Given the description of an element on the screen output the (x, y) to click on. 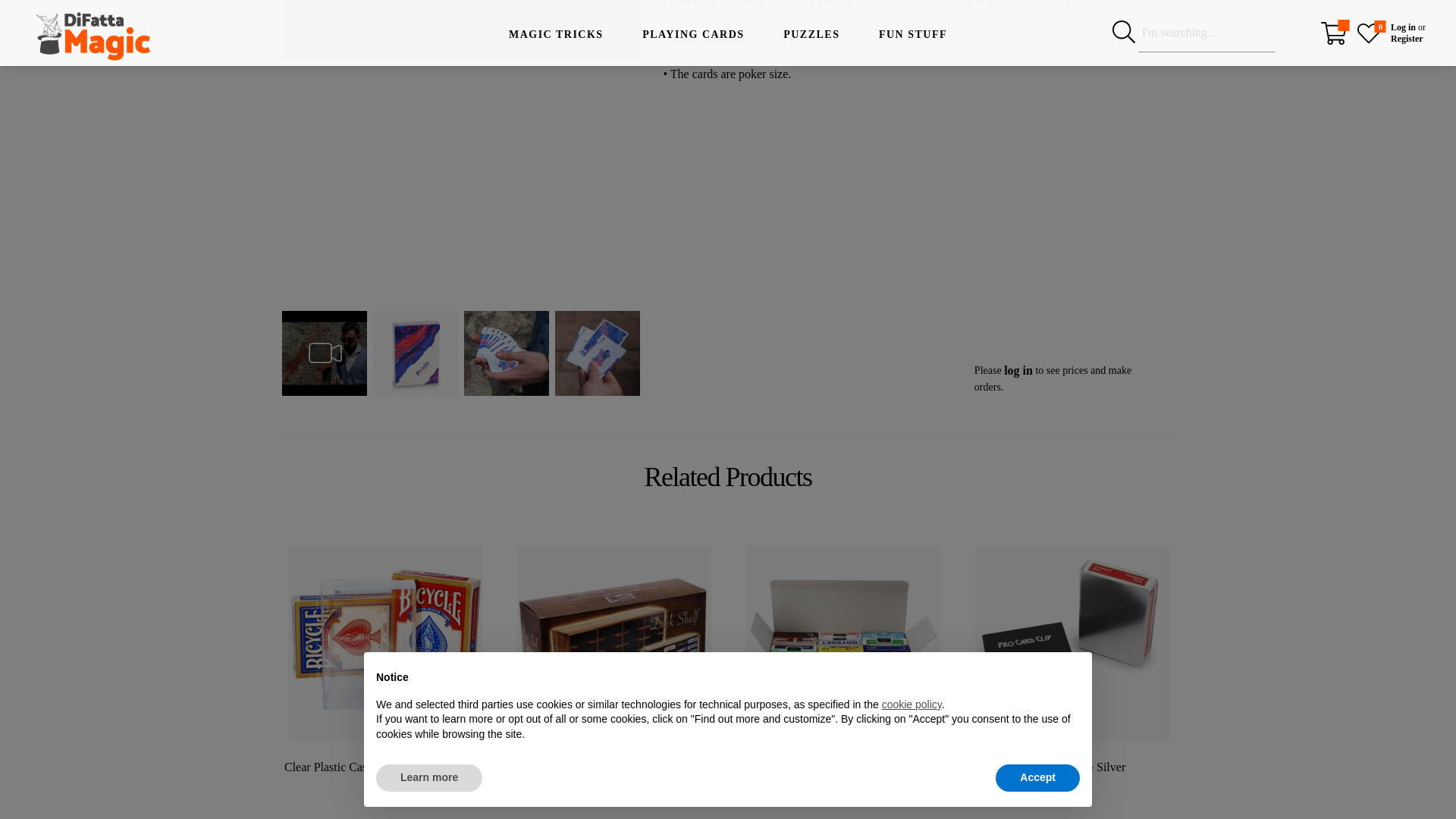
log in (1018, 369)
